Given the description of an element on the screen output the (x, y) to click on. 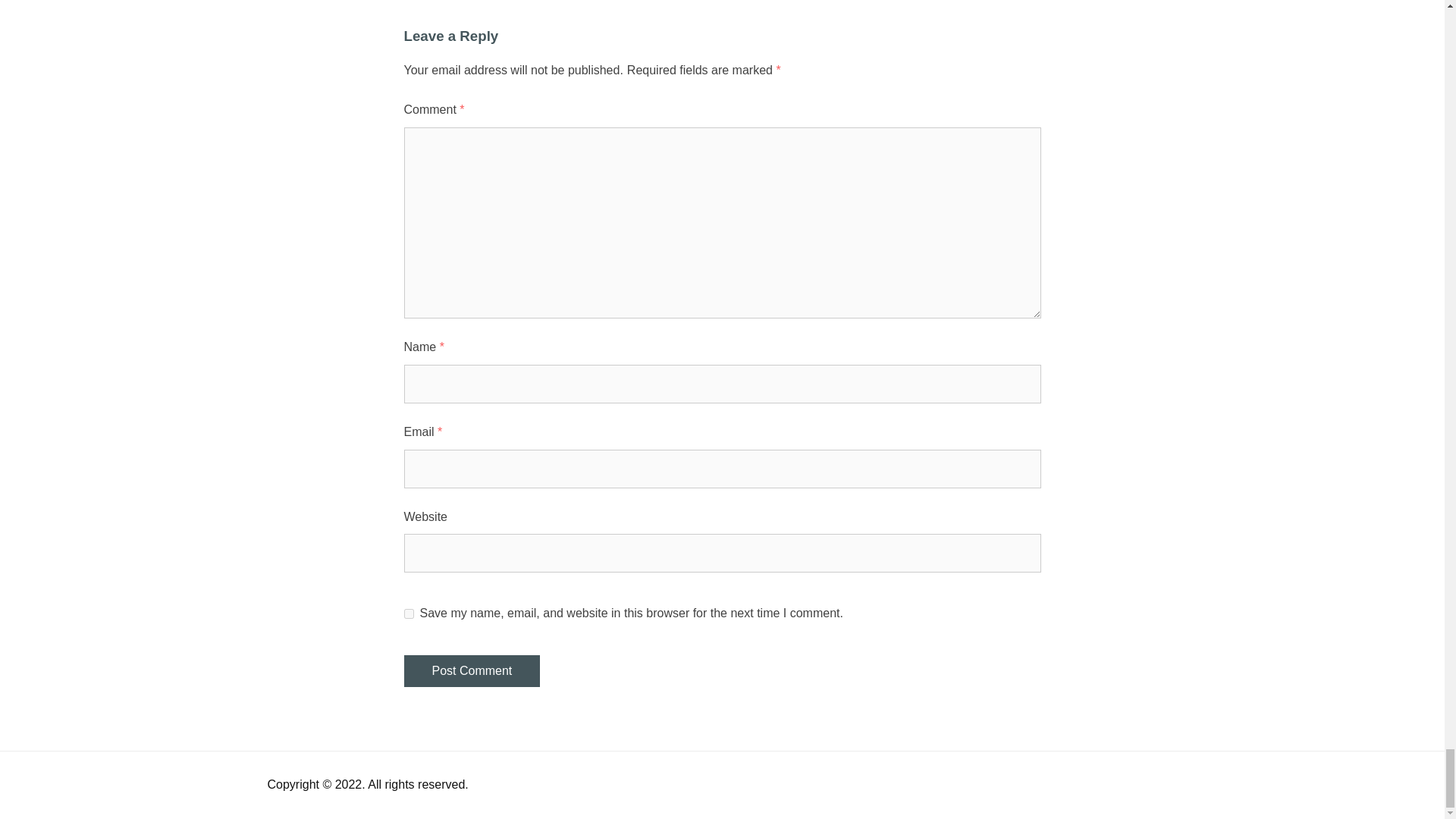
yes (408, 614)
Post Comment (471, 671)
